Given the description of an element on the screen output the (x, y) to click on. 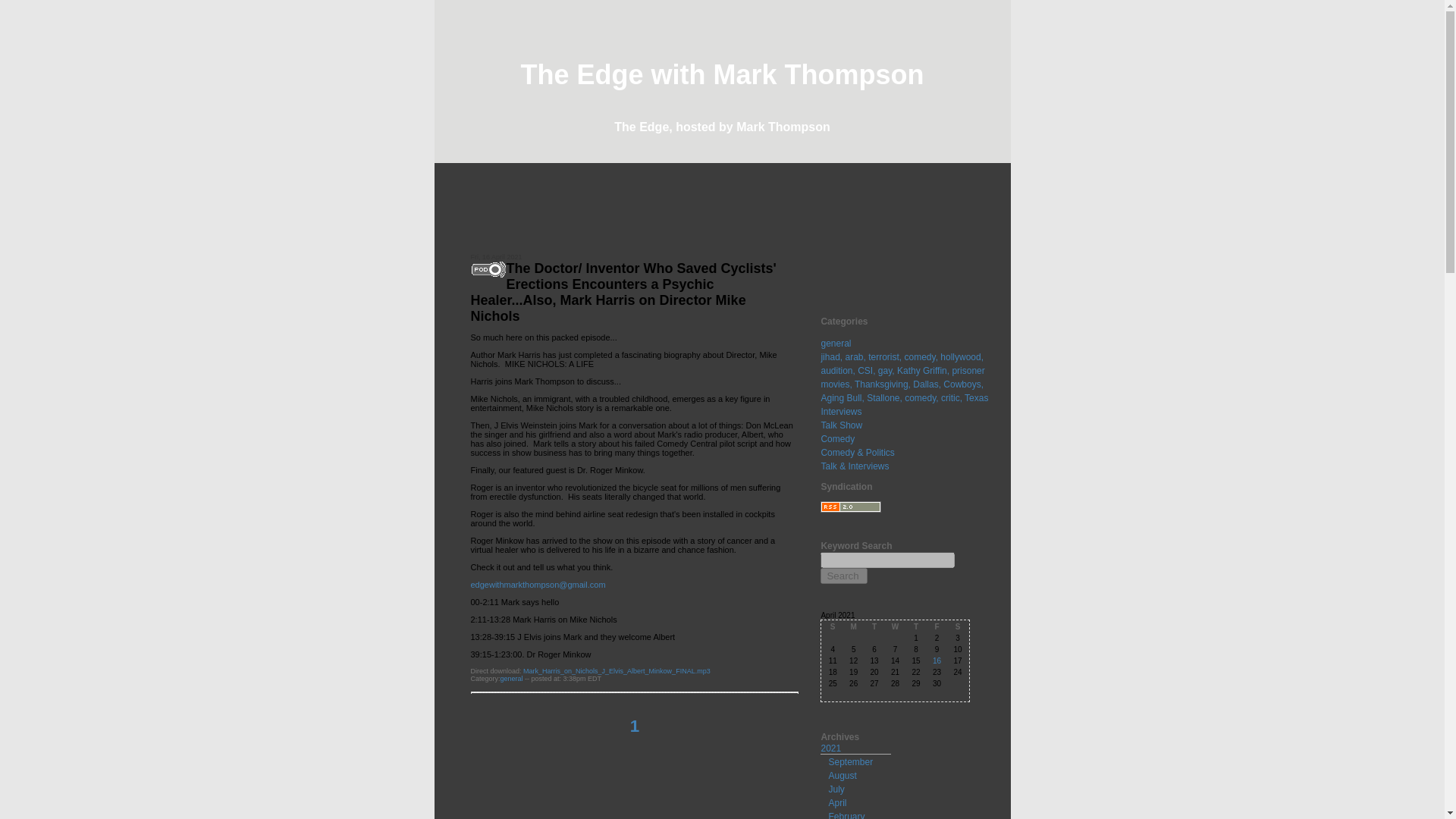
16 (936, 660)
August (842, 775)
February (846, 815)
Search  (844, 575)
general (511, 678)
Comedy (837, 439)
Saturday (957, 626)
Thursday (914, 626)
Monday (853, 626)
Sunday (831, 626)
Wednesday (894, 626)
general (835, 343)
July (836, 788)
2021 (831, 747)
